Given the description of an element on the screen output the (x, y) to click on. 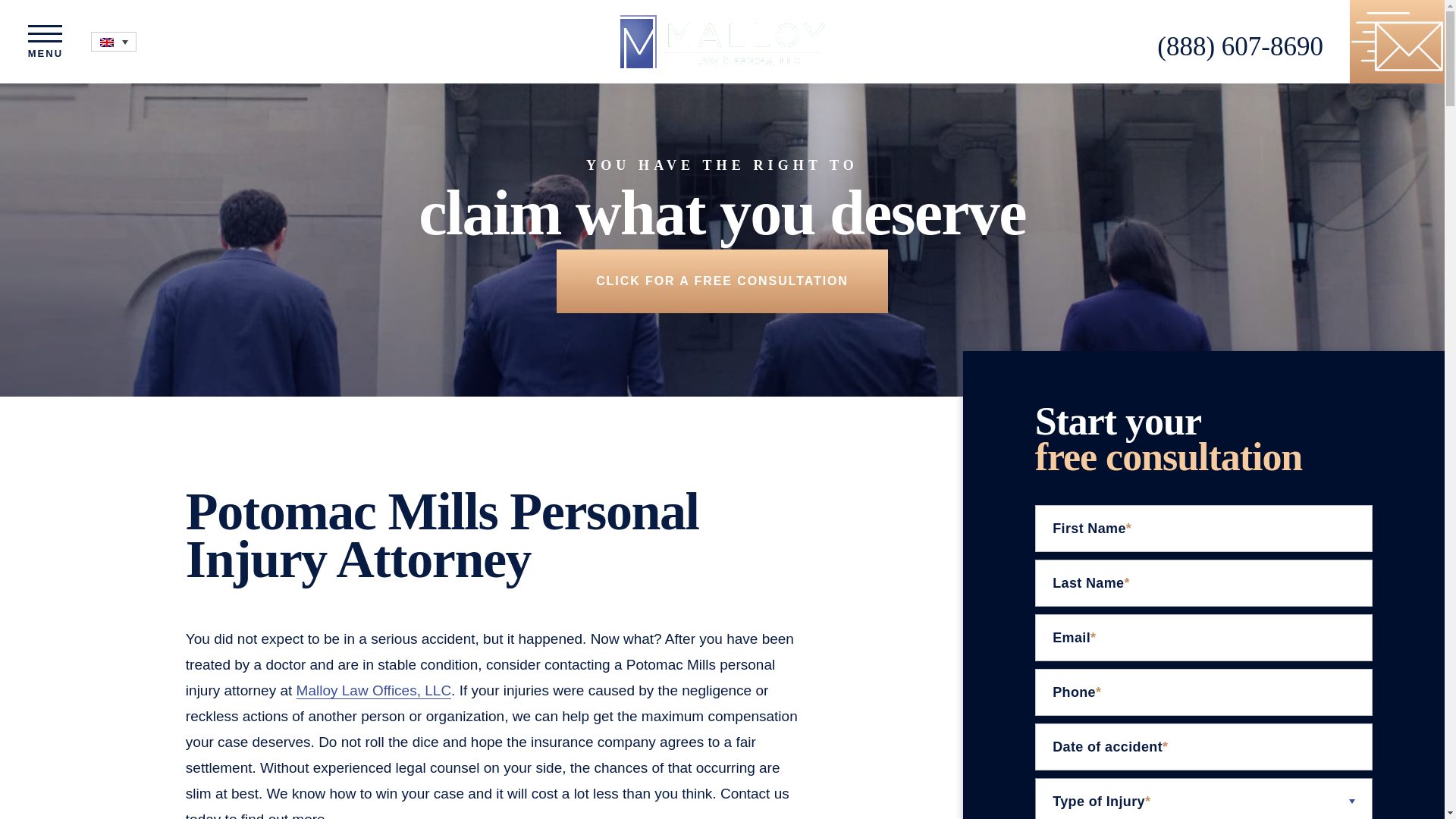
CLICK FOR A FREE CONSULTATION (722, 280)
MENU (45, 41)
Malloy Law Offices, LLC (374, 690)
Call us (1240, 46)
Malloy Law (722, 41)
